Given the description of an element on the screen output the (x, y) to click on. 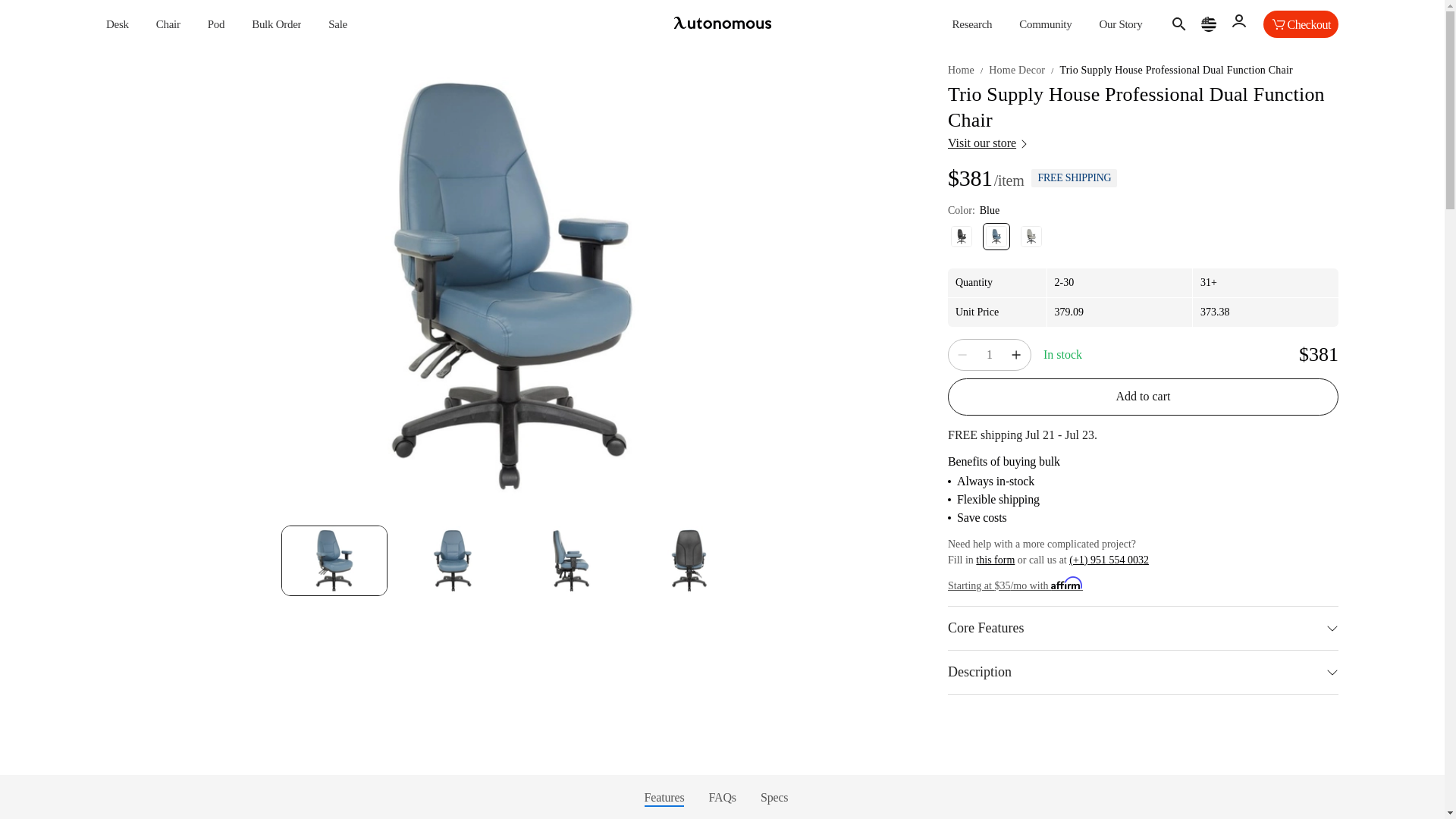
Chair (167, 24)
Autonomous (721, 23)
Sale (338, 24)
Click go to homepage (721, 23)
Pod (216, 24)
Desk (117, 24)
Pod (216, 24)
Sale (338, 24)
Our Story (1120, 24)
Research (972, 24)
Bulk Order (276, 24)
Desk (117, 24)
Bulk Order (276, 24)
Chair (167, 24)
Community (1045, 24)
